Given the description of an element on the screen output the (x, y) to click on. 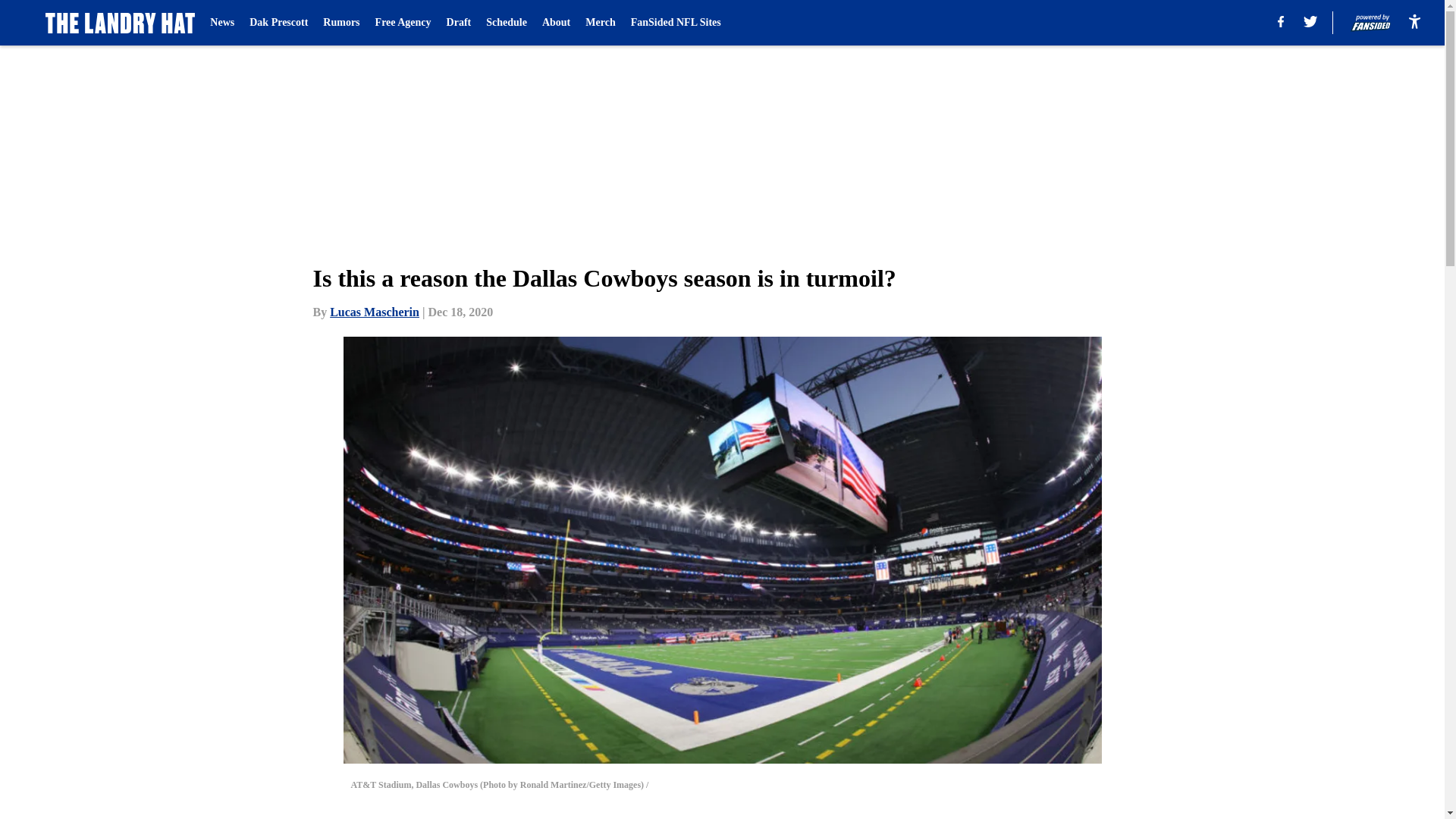
Merch (599, 22)
Schedule (506, 22)
Rumors (341, 22)
Free Agency (402, 22)
News (221, 22)
About (555, 22)
FanSided NFL Sites (675, 22)
Lucas Mascherin (374, 311)
Dak Prescott (277, 22)
Draft (458, 22)
